Given the description of an element on the screen output the (x, y) to click on. 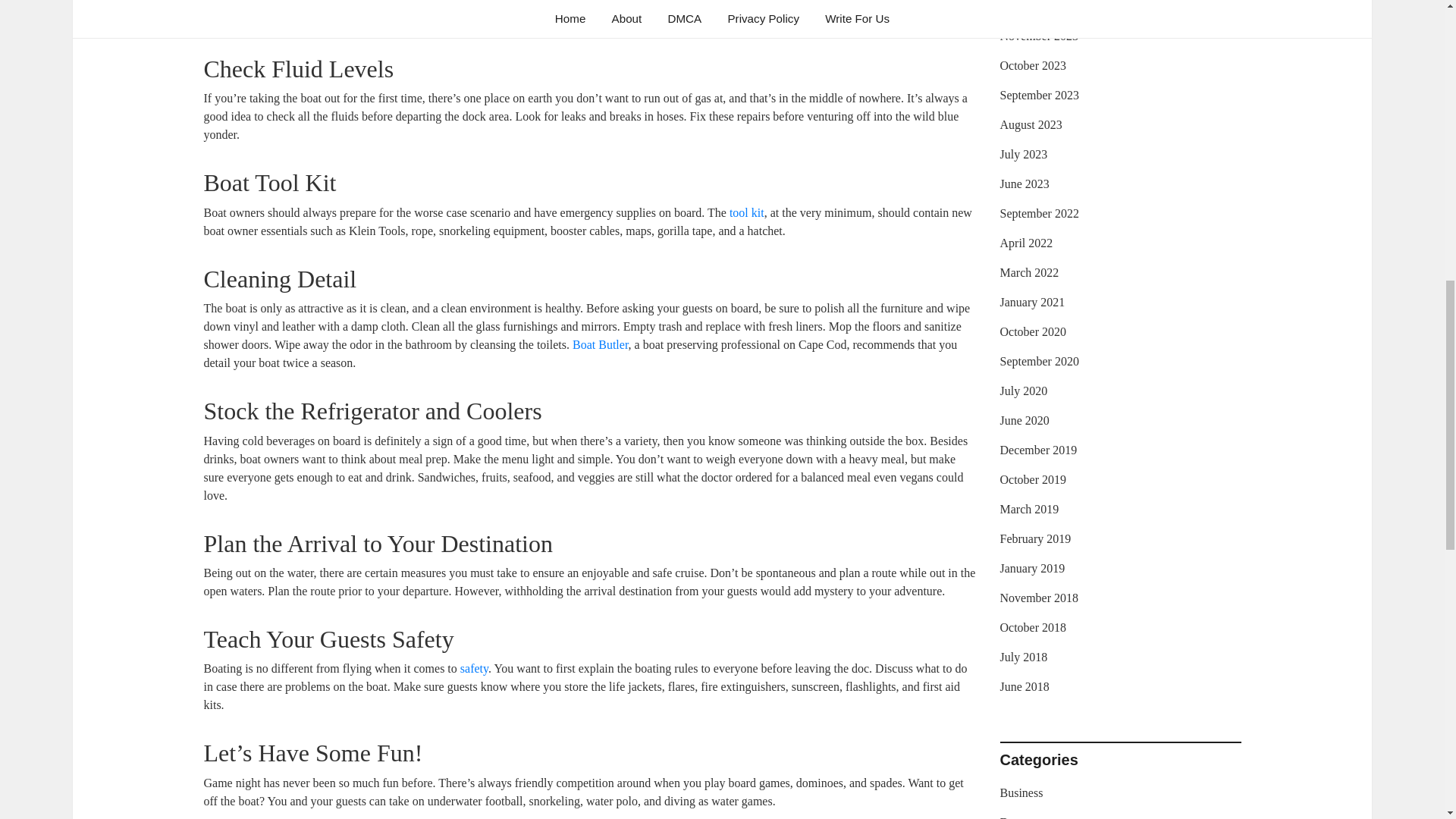
Boat Butler (600, 344)
safety (473, 667)
tool kit (746, 212)
